Given the description of an element on the screen output the (x, y) to click on. 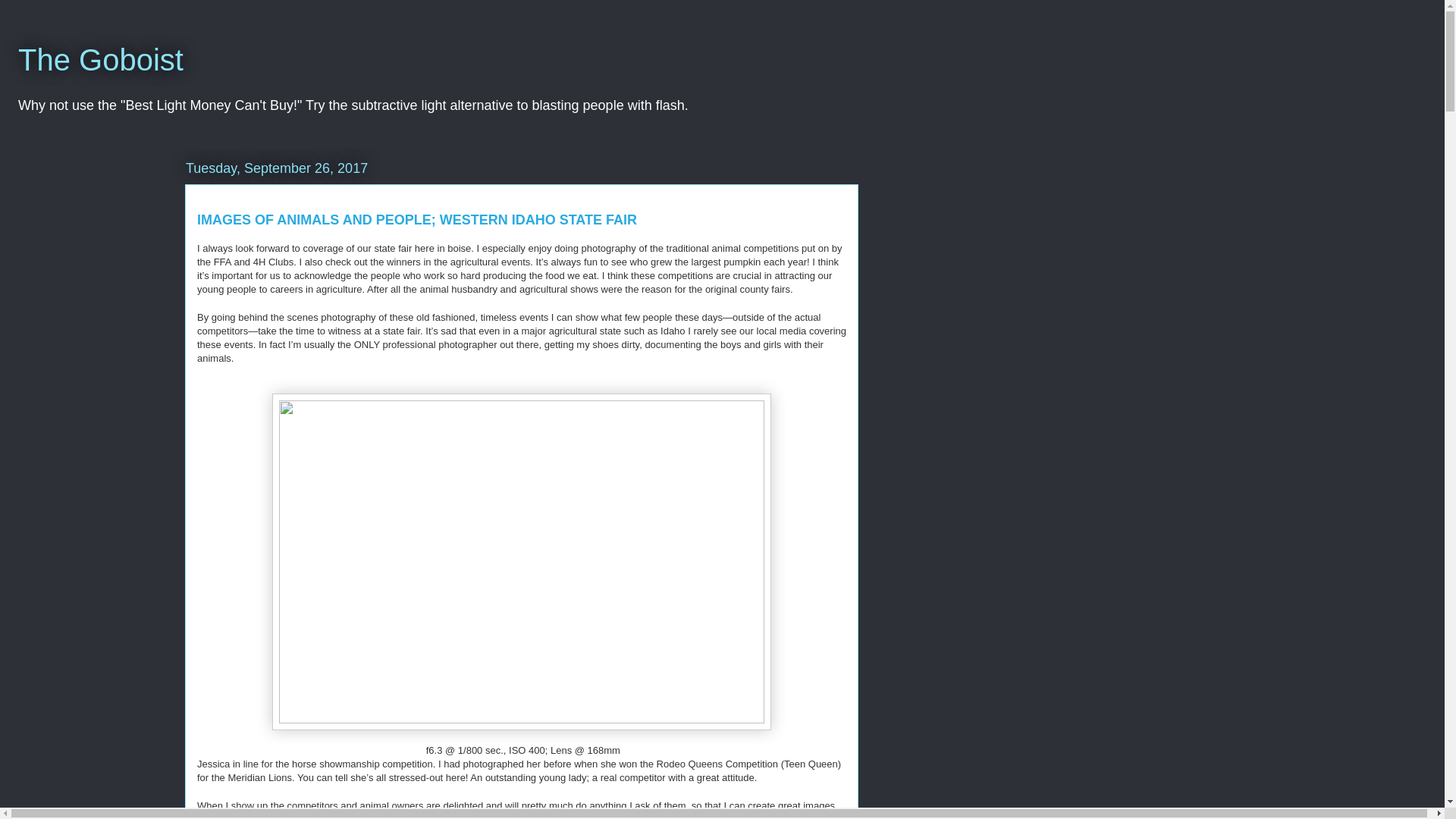
The Goboist (100, 59)
